Given the description of an element on the screen output the (x, y) to click on. 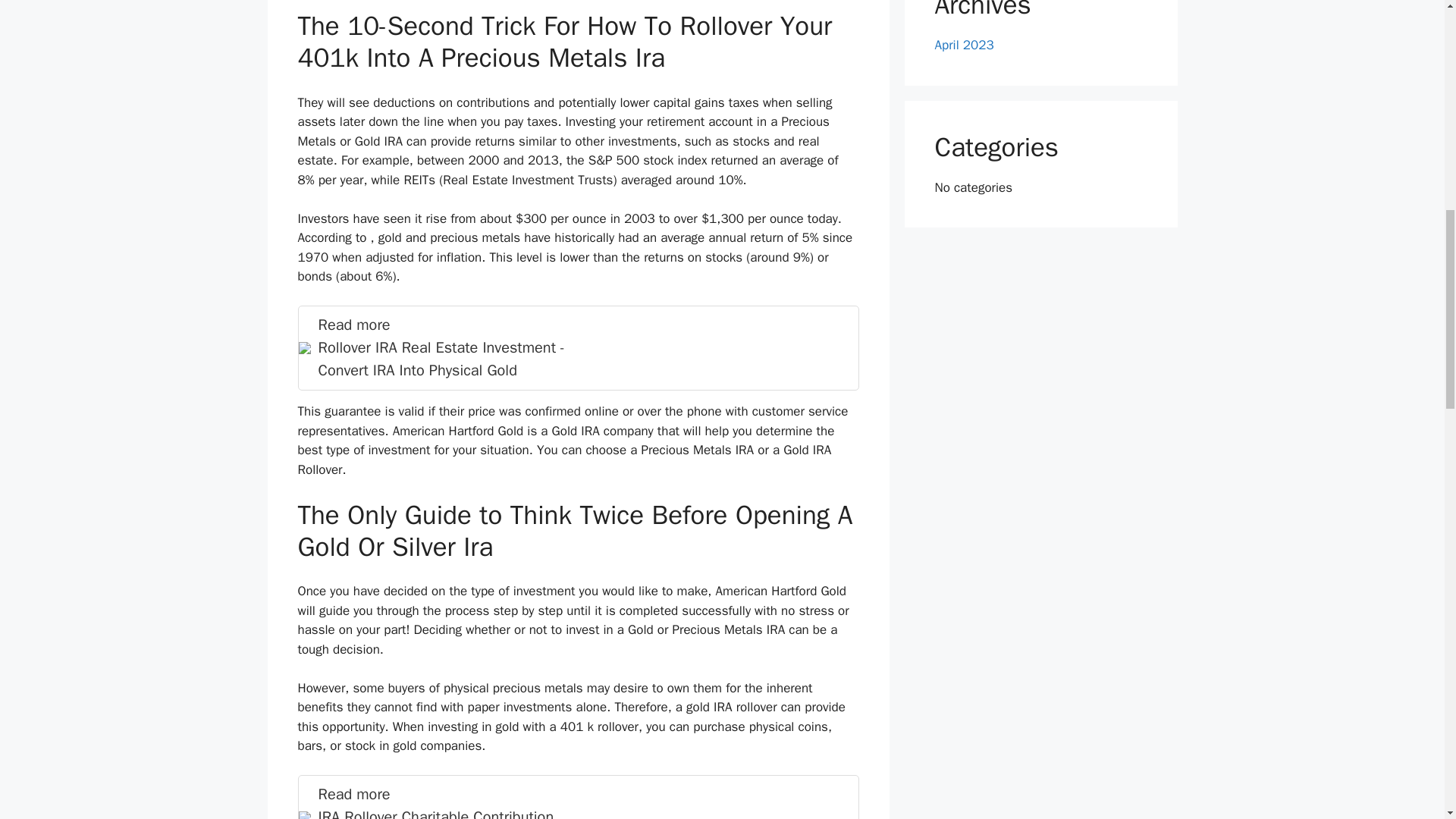
April 2023 (963, 44)
